Given the description of an element on the screen output the (x, y) to click on. 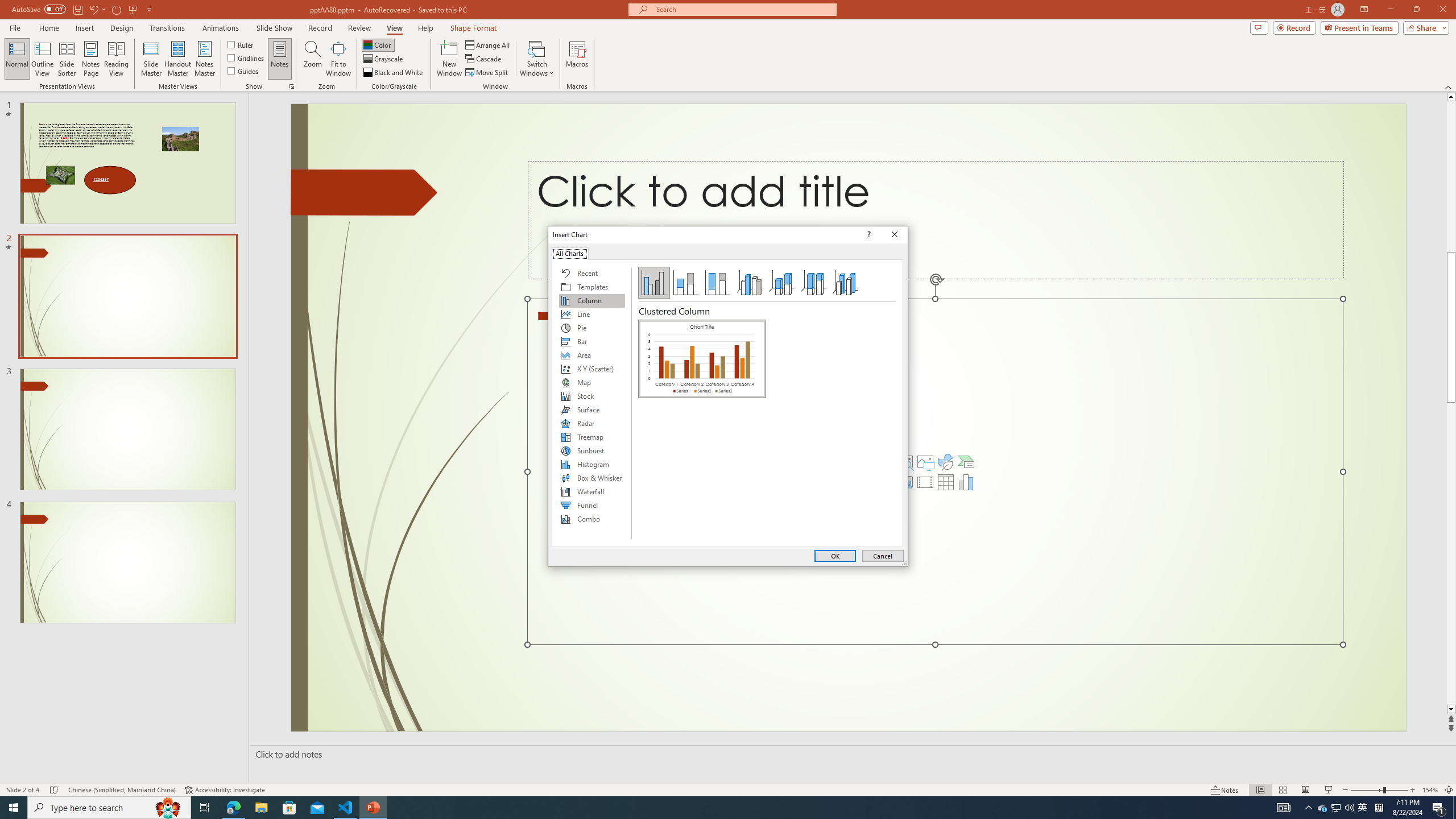
Map (591, 382)
